Given the description of an element on the screen output the (x, y) to click on. 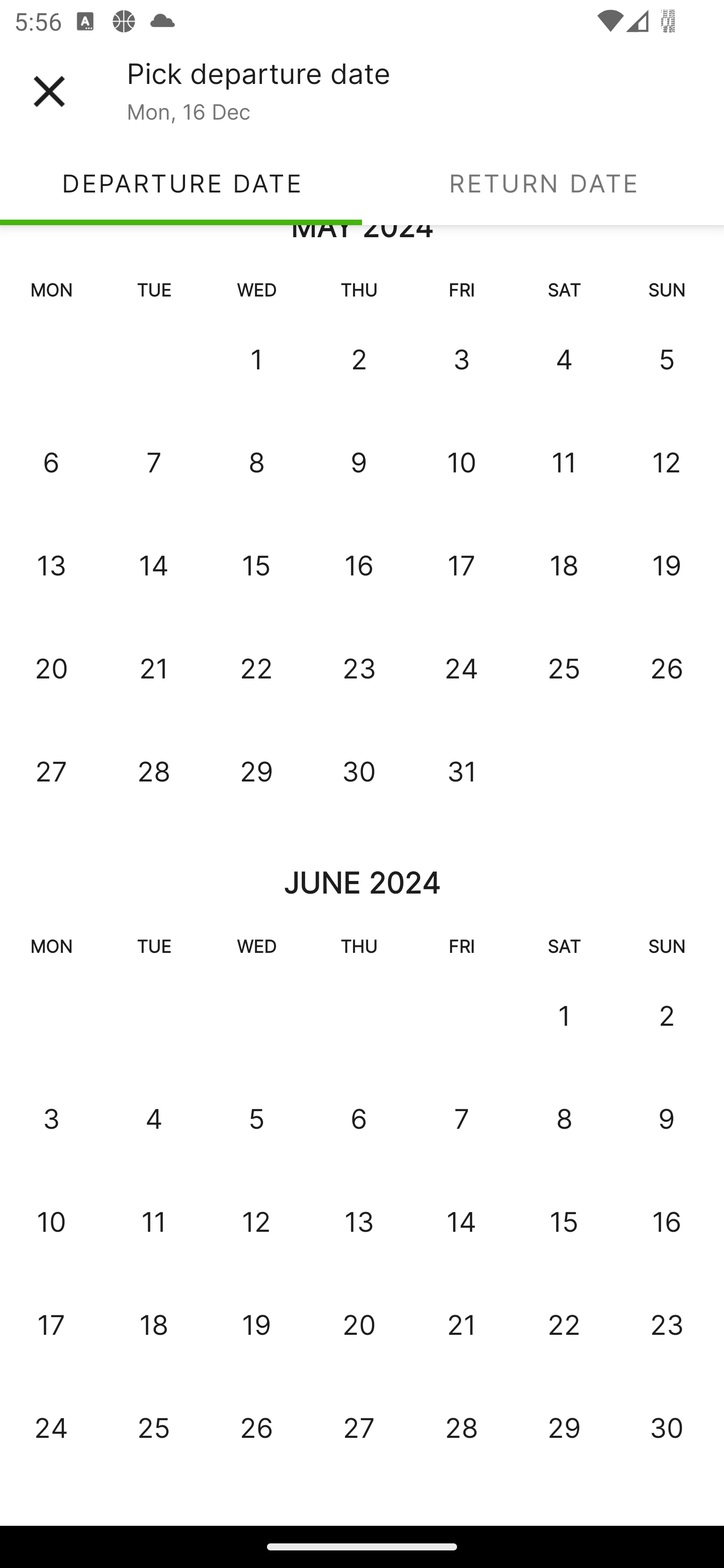
Return Date RETURN DATE (543, 183)
